Given the description of an element on the screen output the (x, y) to click on. 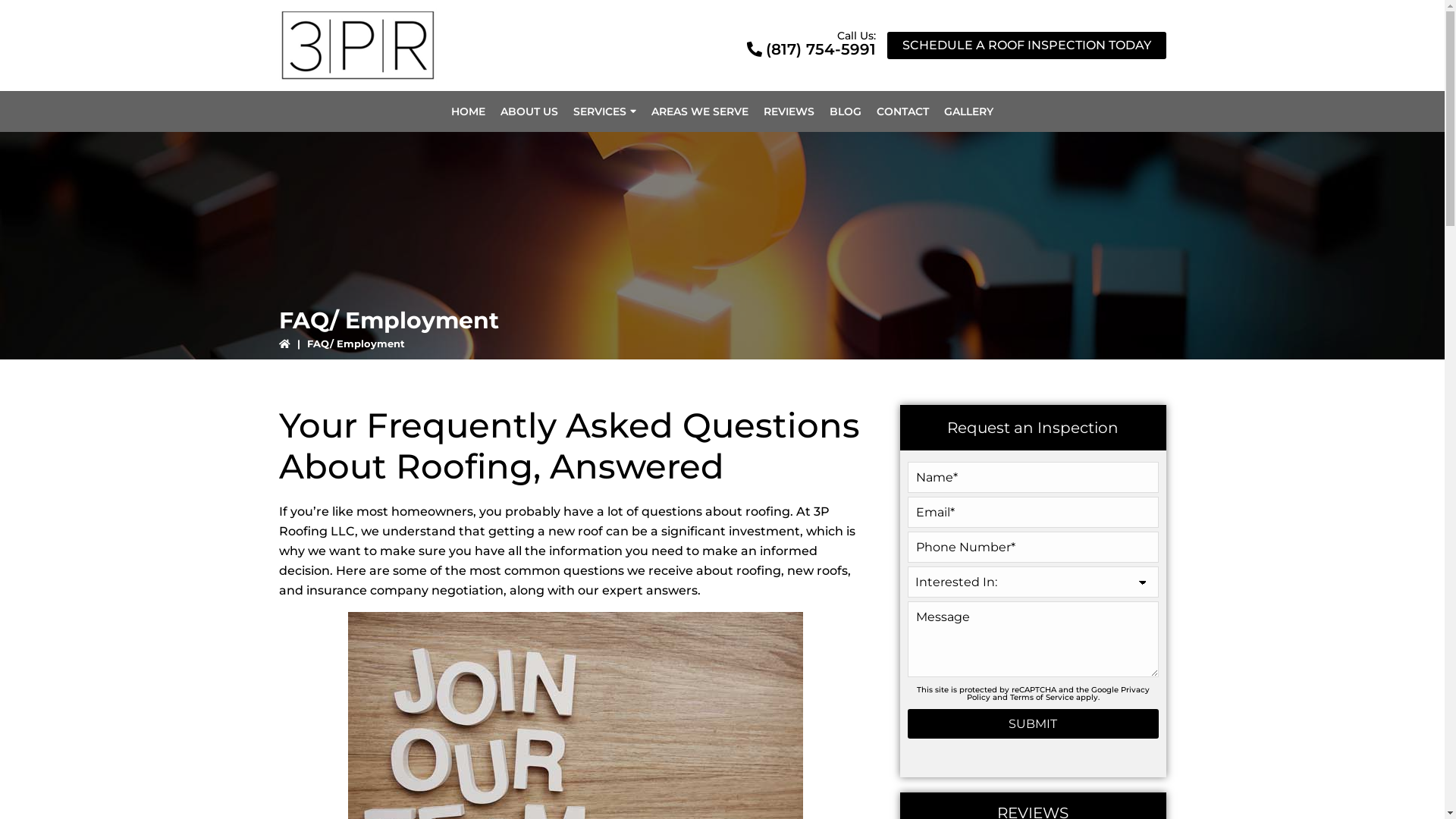
ABOUT US Element type: text (528, 111)
REVIEWS Element type: text (789, 111)
Privacy Policy Element type: text (1057, 693)
(817) 754-5991 Element type: text (810, 49)
BLOG Element type: text (845, 111)
Skip to primary navigation Element type: text (15, 0)
HOME Element type: text (467, 111)
SERVICES Element type: text (604, 111)
Submit Element type: text (1031, 723)
Terms of Service Element type: text (1041, 697)
AREAS WE SERVE Element type: text (699, 111)
GALLERY Element type: text (968, 111)
SCHEDULE A ROOF INSPECTION TODAY Element type: text (1026, 45)
CONTACT Element type: text (902, 111)
3PR Roofing Company Element type: hover (357, 45)
